Given the description of an element on the screen output the (x, y) to click on. 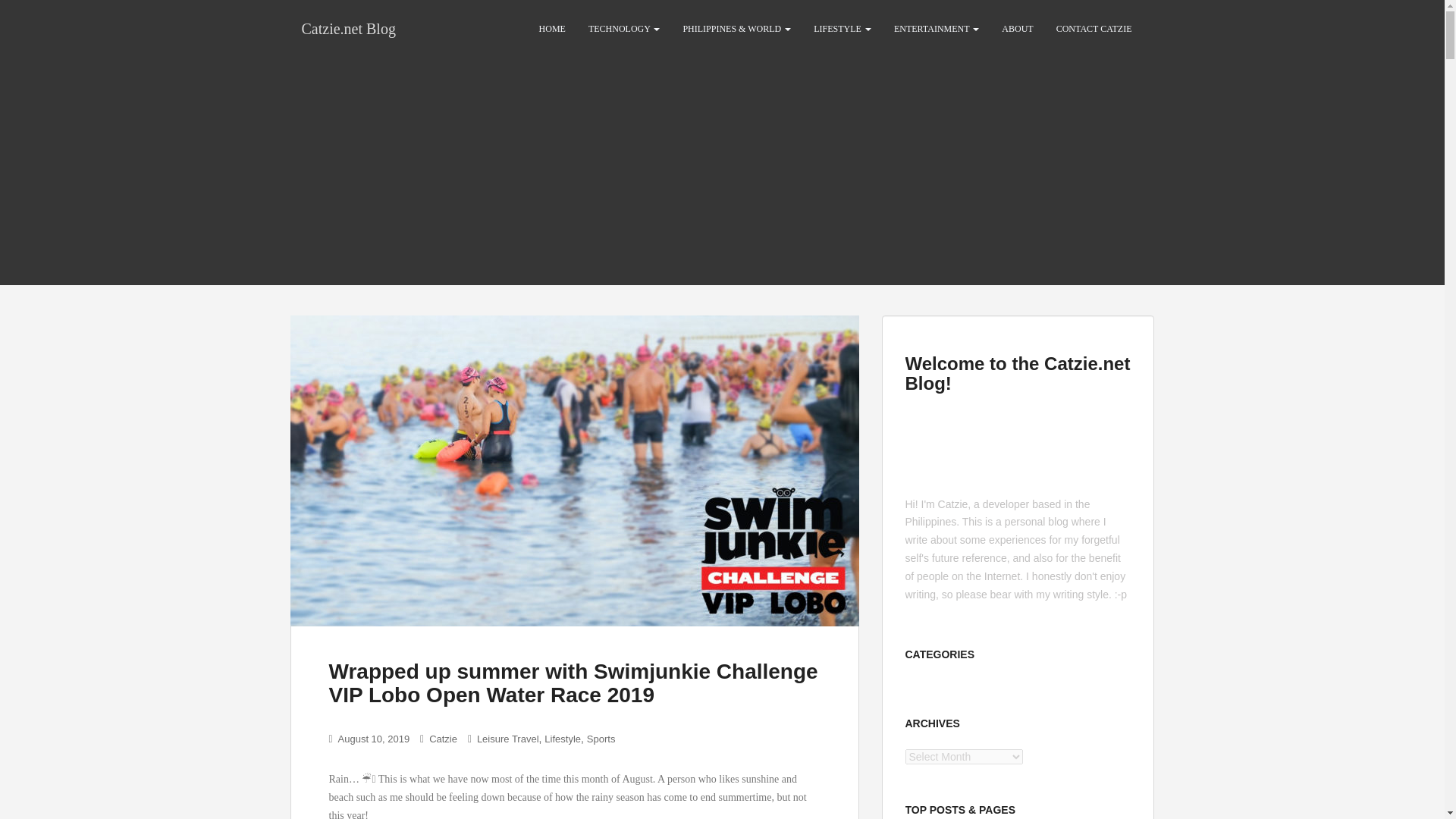
August 10, 2019 (373, 738)
Catzie (443, 738)
Catzie.net Blog (347, 28)
Leisure Travel (507, 738)
TECHNOLOGY (623, 28)
ENTERTAINMENT (936, 28)
Lifestyle (842, 28)
Technology (623, 28)
Lifestyle (562, 738)
LIFESTYLE (842, 28)
ABOUT (1016, 28)
CONTACT CATZIE (1093, 28)
Sports (600, 738)
Catzie.net Blog (347, 28)
